Given the description of an element on the screen output the (x, y) to click on. 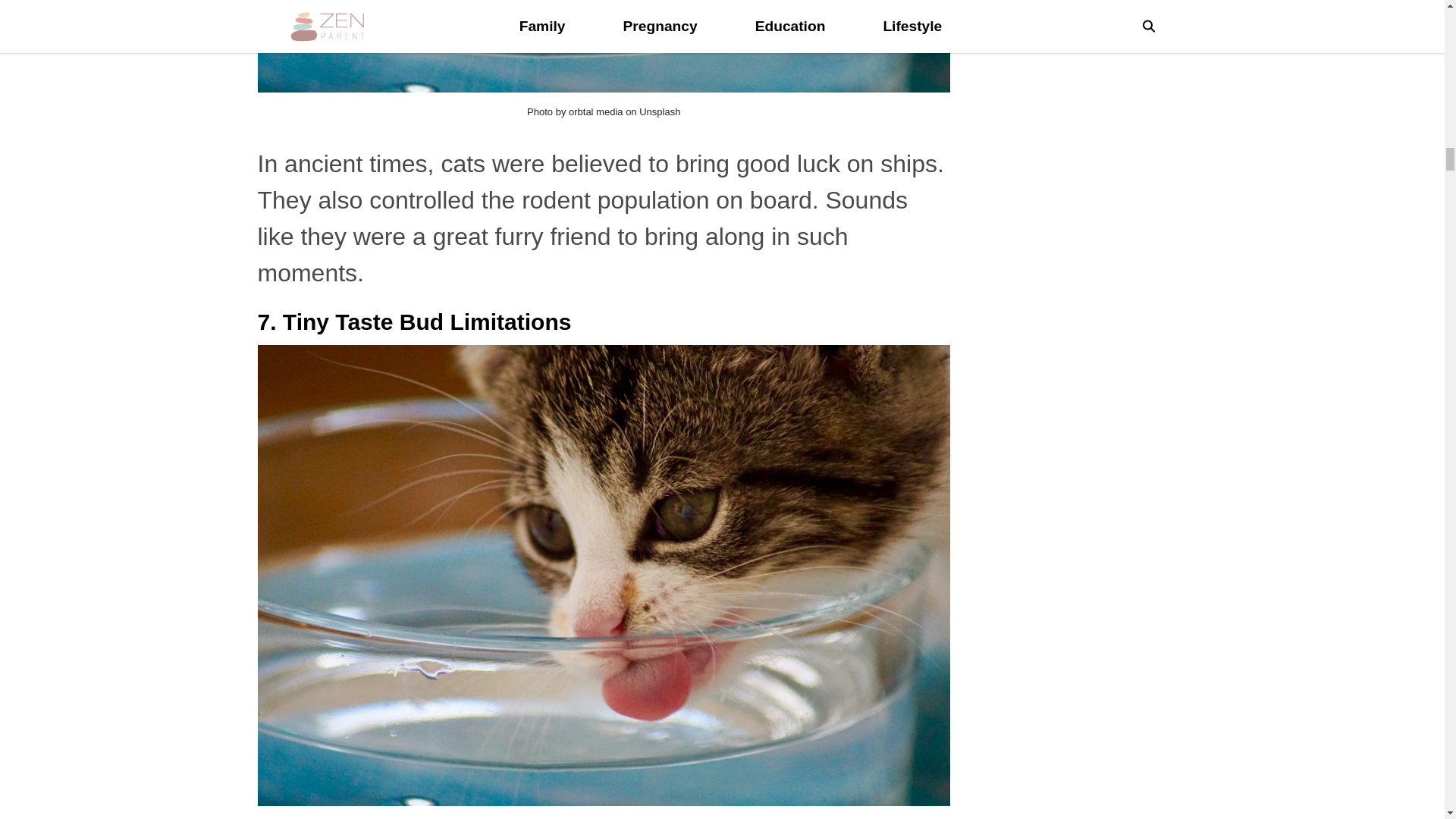
Photo by orbtal media on Unsplash (603, 111)
